Given the description of an element on the screen output the (x, y) to click on. 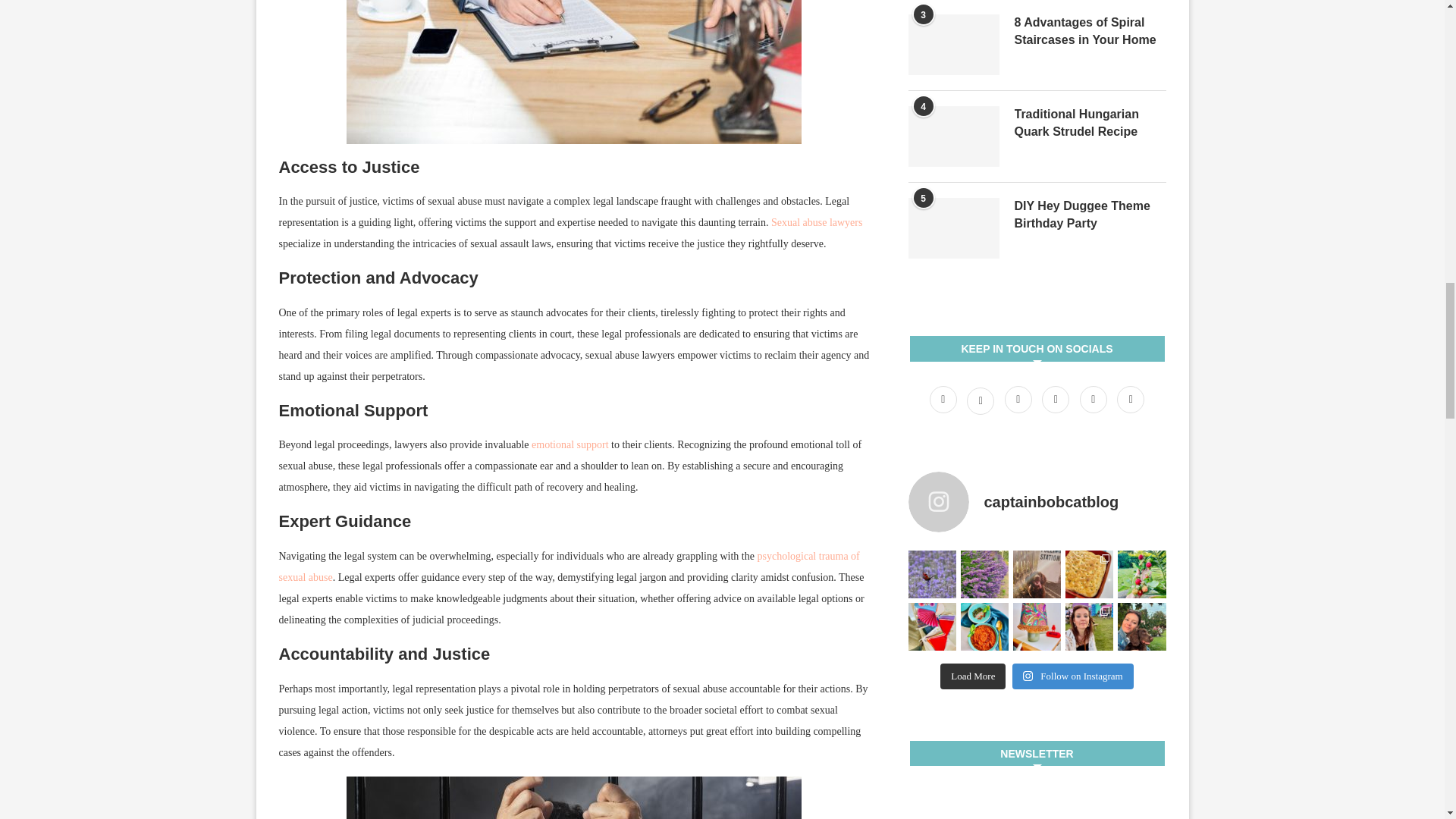
psychological trauma of sexual abuse (569, 566)
emotional support (569, 444)
Sexual abuse lawyers (817, 222)
